Given the description of an element on the screen output the (x, y) to click on. 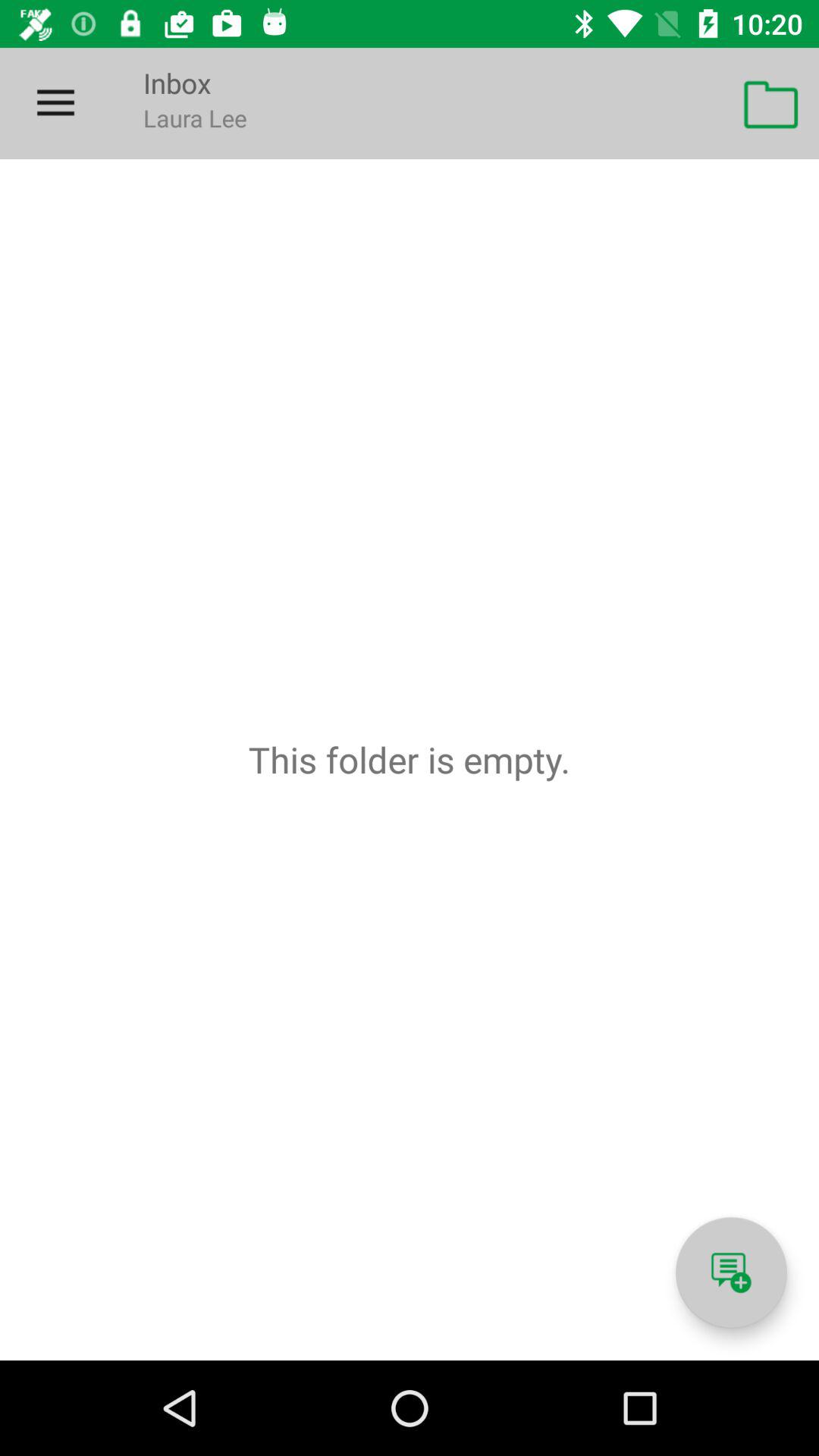
live chat (731, 1272)
